Given the description of an element on the screen output the (x, y) to click on. 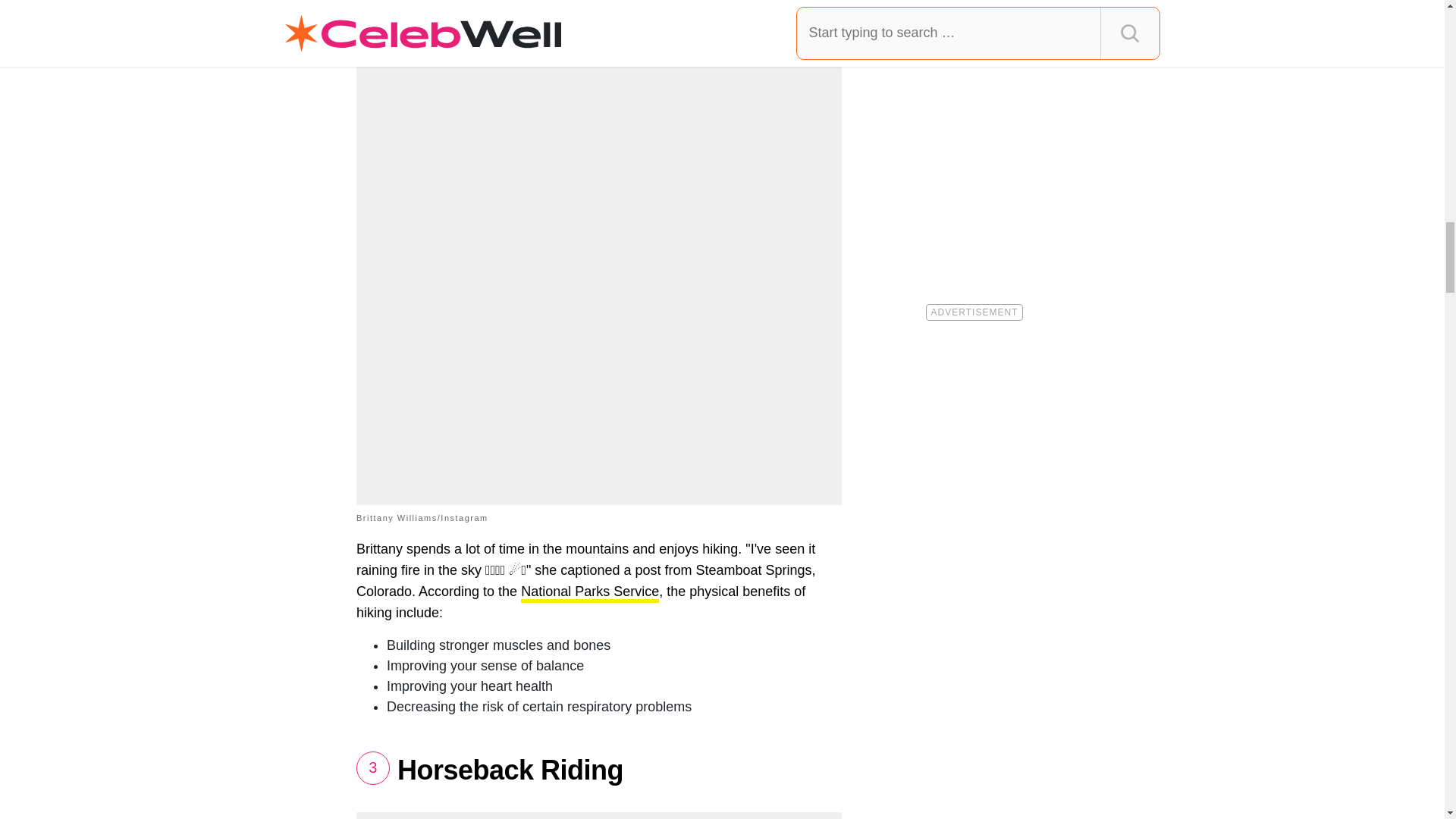
National Parks Service (590, 592)
